Given the description of an element on the screen output the (x, y) to click on. 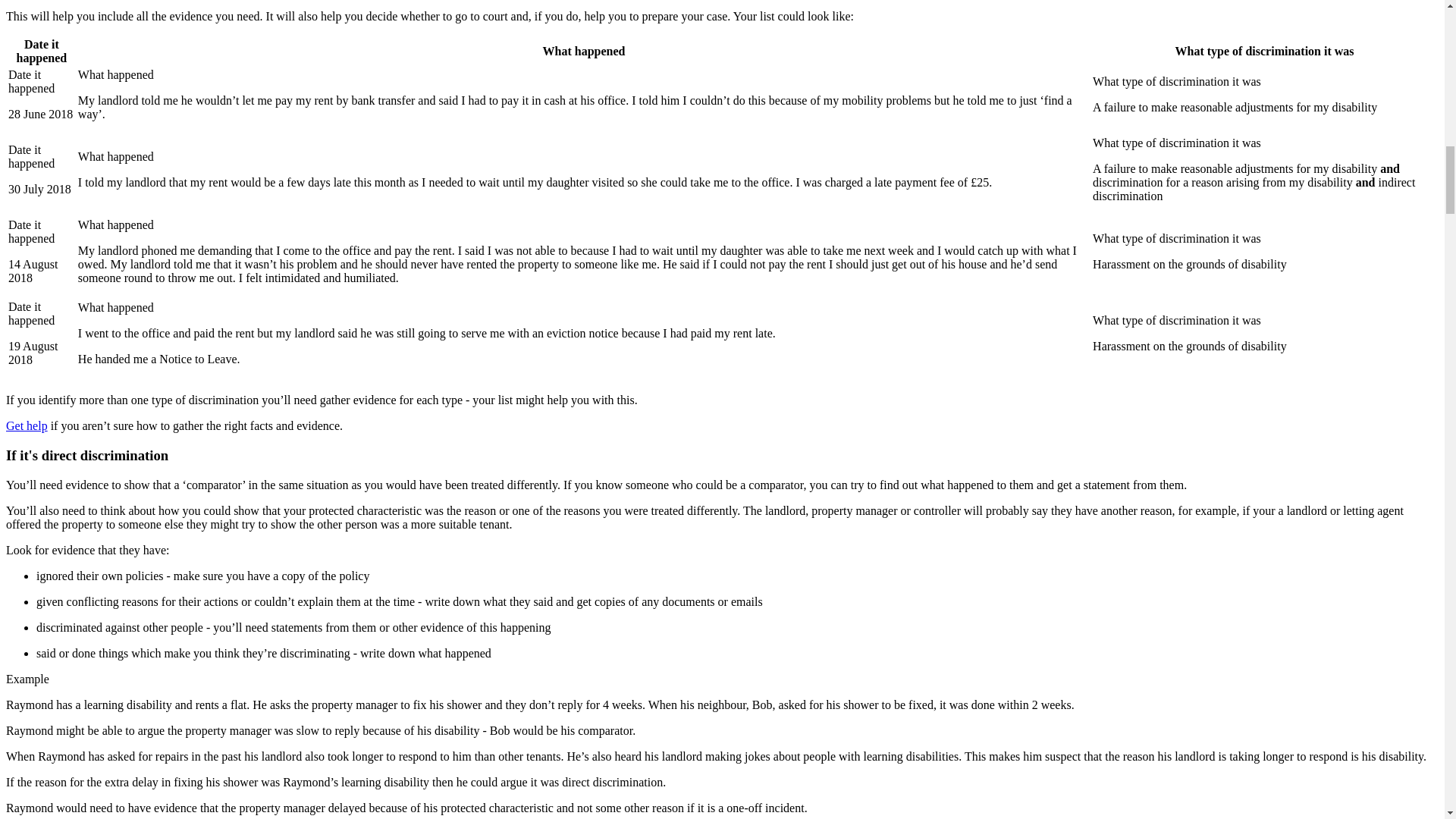
Get help (26, 425)
